Given the description of an element on the screen output the (x, y) to click on. 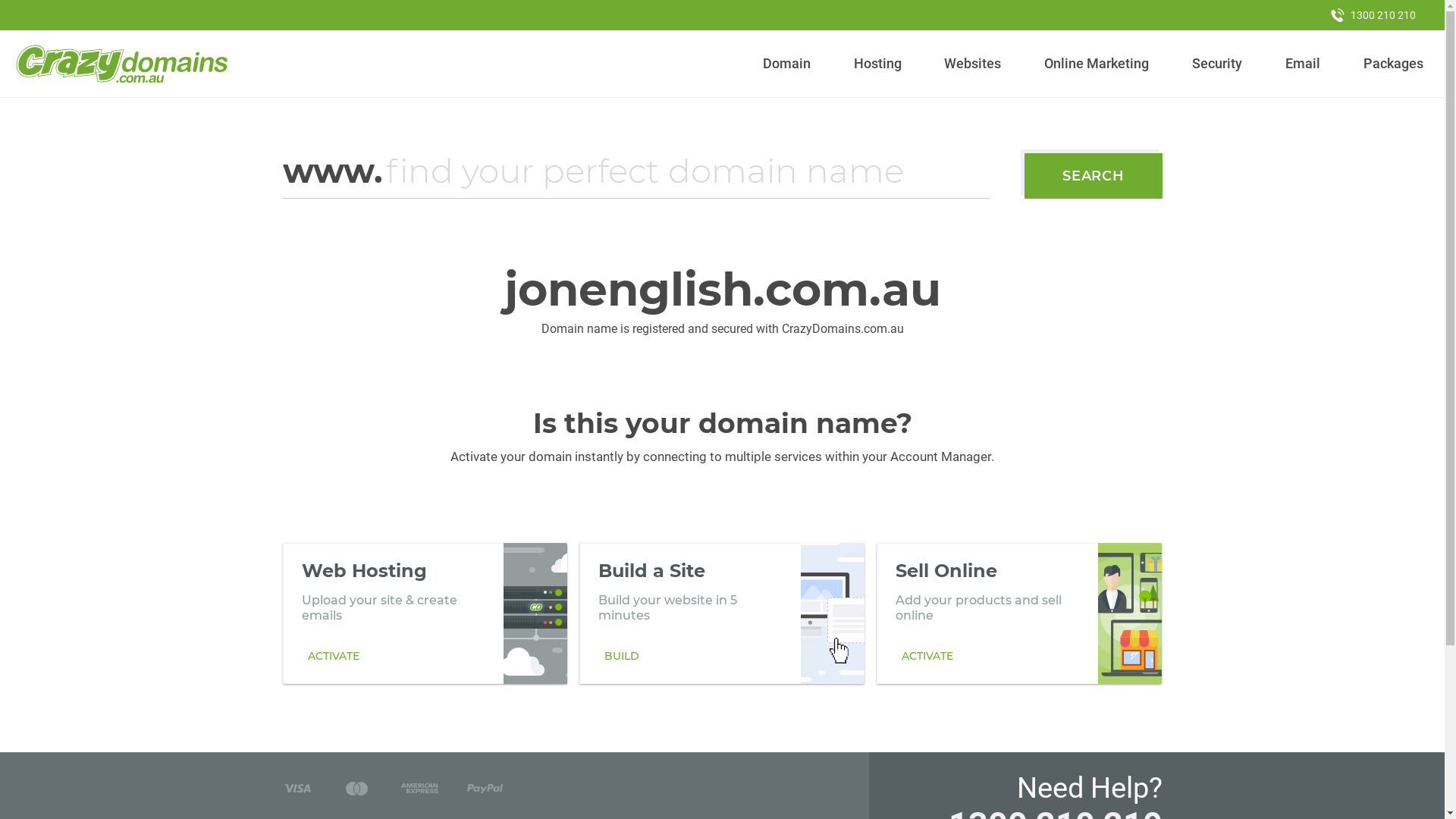
Email Element type: text (1302, 63)
Packages Element type: text (1392, 63)
Web Hosting
Upload your site & create emails
ACTIVATE Element type: text (424, 613)
Security Element type: text (1217, 63)
Sell Online
Add your products and sell online
ACTIVATE Element type: text (1018, 613)
Online Marketing Element type: text (1096, 63)
Websites Element type: text (972, 63)
1300 210 210 Element type: text (1373, 15)
Hosting Element type: text (877, 63)
Build a Site
Build your website in 5 minutes
BUILD Element type: text (721, 613)
SEARCH Element type: text (1092, 175)
Domain Element type: text (786, 63)
